Given the description of an element on the screen output the (x, y) to click on. 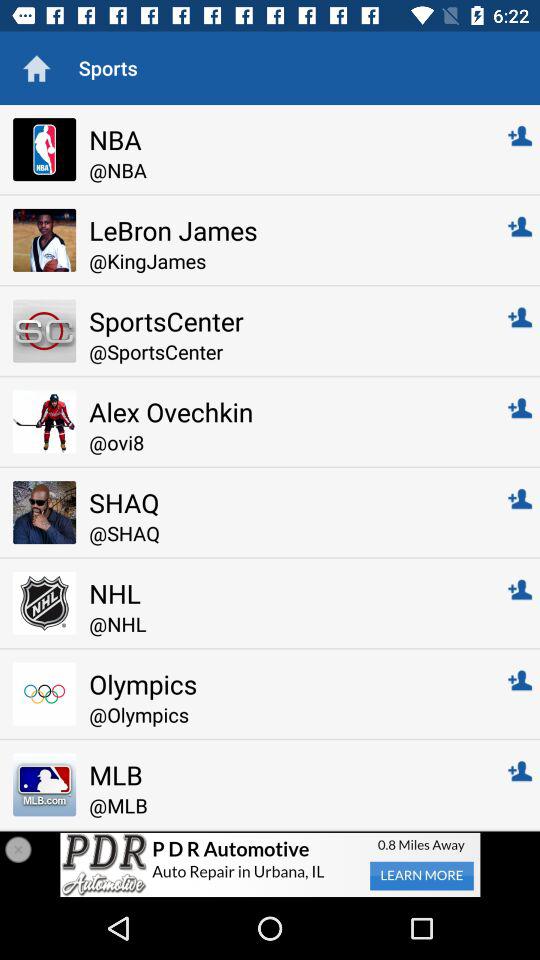
turn off item below the @sportscenter (284, 411)
